Given the description of an element on the screen output the (x, y) to click on. 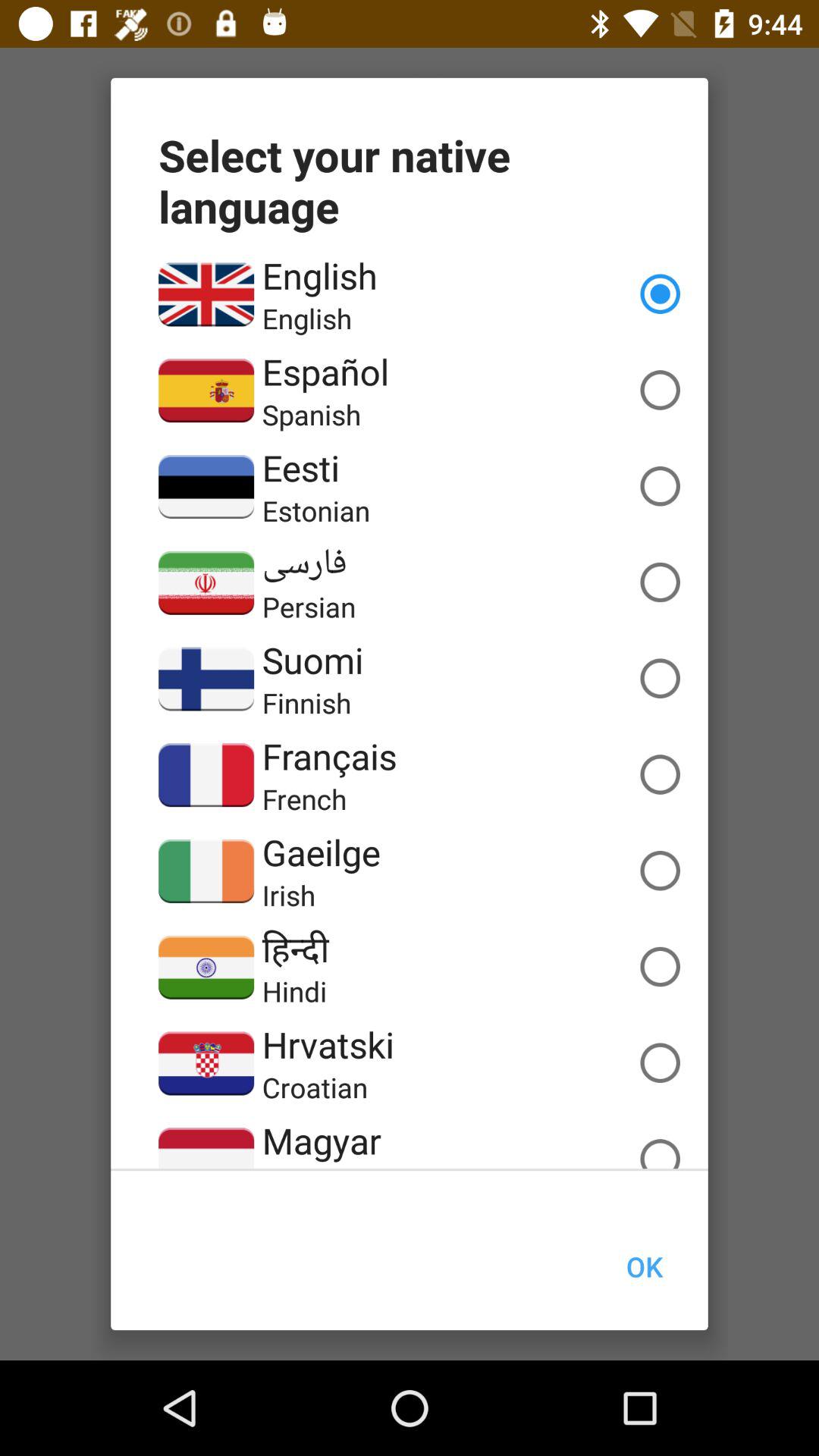
swipe until the finnish app (306, 702)
